Given the description of an element on the screen output the (x, y) to click on. 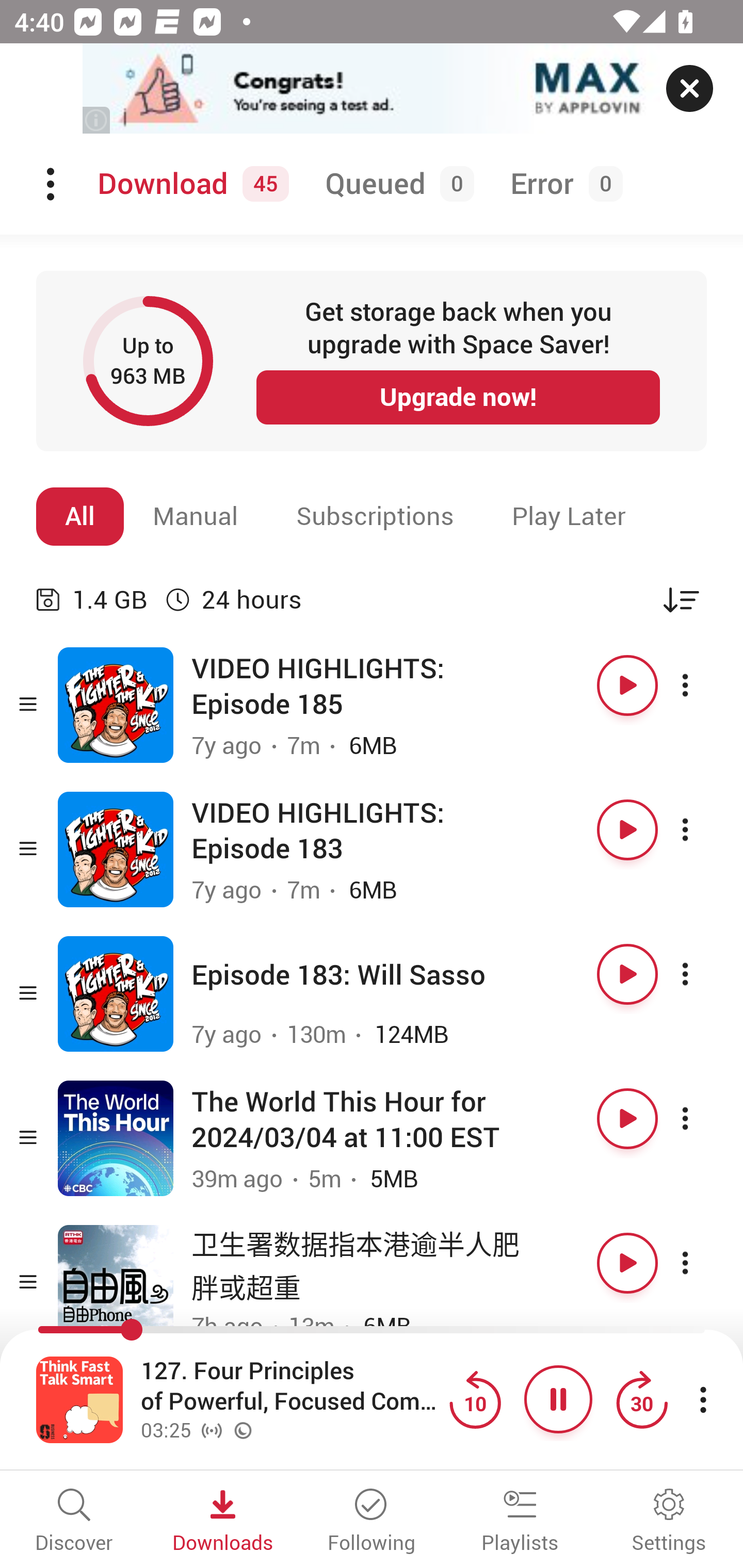
app-monetization (371, 88)
(i) (96, 119)
Menu (52, 184)
 Download 45 (189, 184)
 Queued 0 (396, 184)
 Error 0 (562, 184)
All (80, 516)
Manual (195, 516)
Subscriptions (374, 516)
Play Later (568, 516)
Change sort order (681, 599)
Play button (627, 685)
More options (703, 685)
Open series The Fighter & The Kid (115, 705)
Play button (627, 830)
More options (703, 830)
Open series The Fighter & The Kid (115, 849)
Play button (627, 974)
More options (703, 974)
Open series The Fighter & The Kid (115, 994)
Play button (627, 1118)
More options (703, 1118)
Open series The World This Hour (115, 1138)
Play button (627, 1263)
More options (703, 1263)
Open series 自由风自由PHONE (115, 1282)
Open fullscreen player (79, 1399)
More player controls (703, 1399)
Pause button (558, 1398)
Jump back (475, 1399)
Jump forward (641, 1399)
Discover (74, 1521)
Downloads (222, 1521)
Following (371, 1521)
Playlists (519, 1521)
Settings (668, 1521)
